Given the description of an element on the screen output the (x, y) to click on. 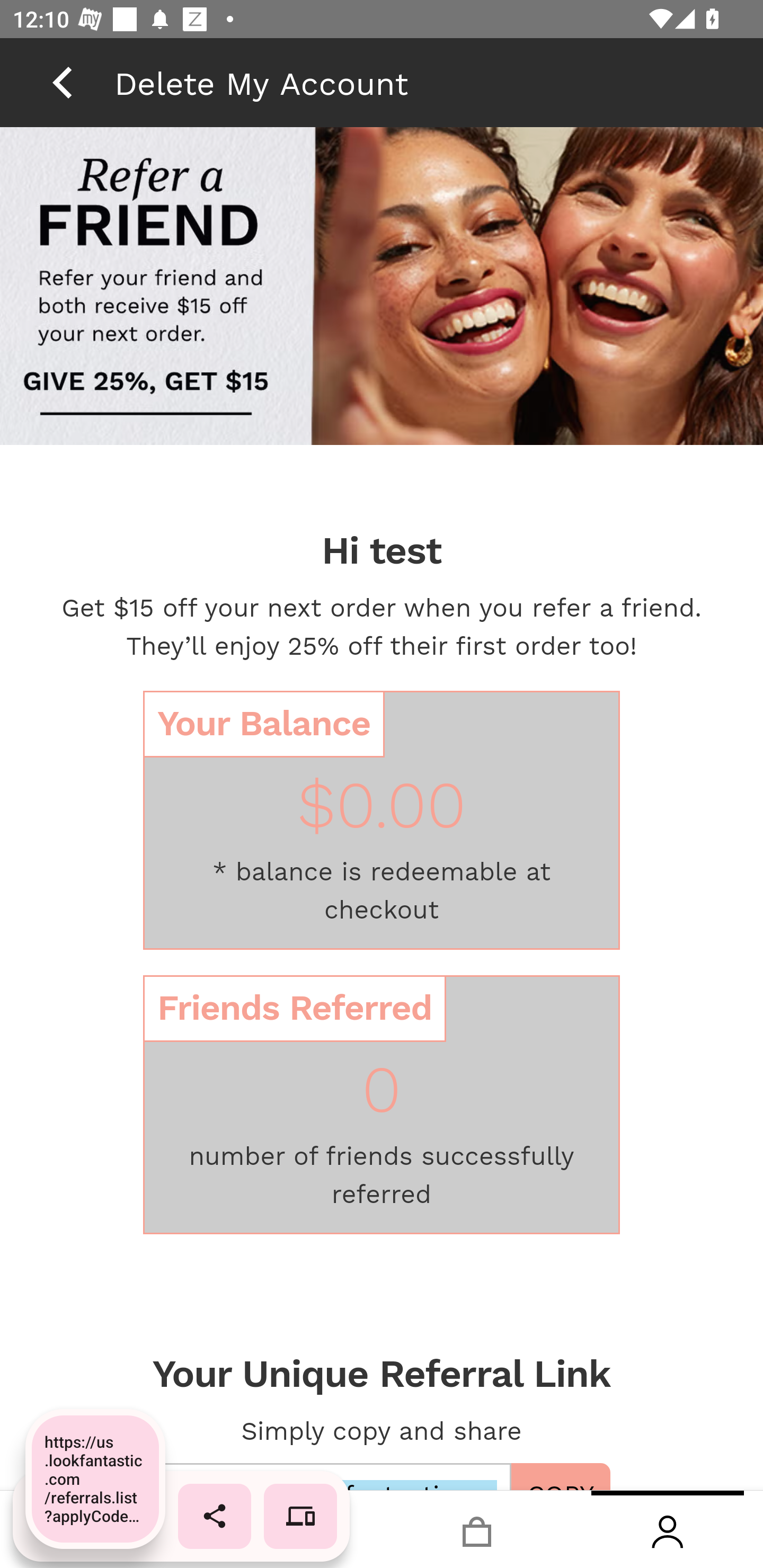
back (61, 82)
raf (381, 288)
Basket, tab, 3 of 4 (476, 1529)
Account, tab, 4 of 4 (667, 1529)
